Given the description of an element on the screen output the (x, y) to click on. 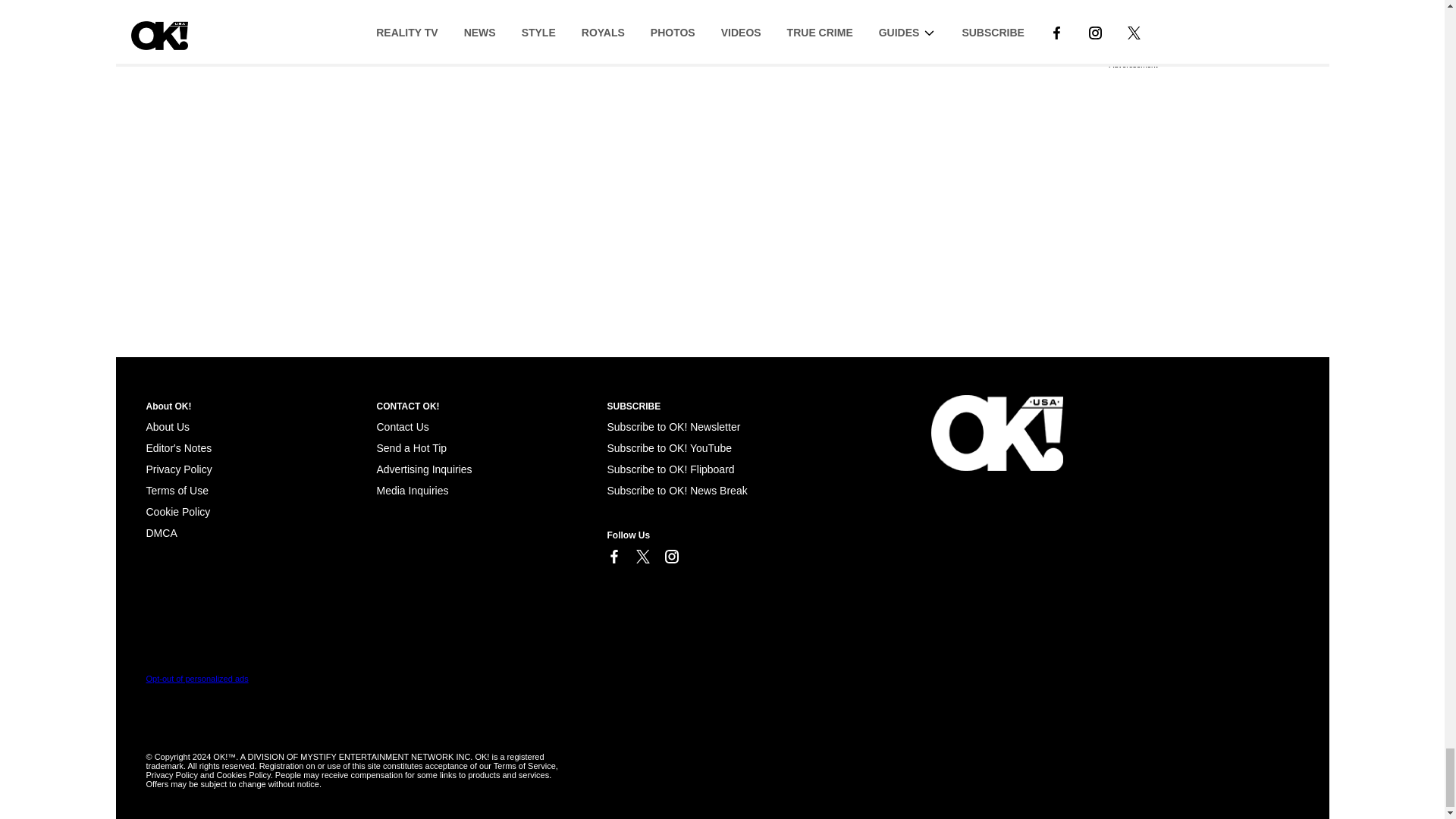
Advertising Inquiries (423, 469)
Cookie Policy (160, 532)
Terms of Use (176, 490)
About Us (167, 426)
Link to Instagram (670, 556)
Cookie Policy (177, 511)
Subscribe to OK! (673, 426)
Editor's Notes (178, 448)
Subscribe to OK! Magazine on YouTube (668, 448)
Media Inquiries (411, 490)
